Given the description of an element on the screen output the (x, y) to click on. 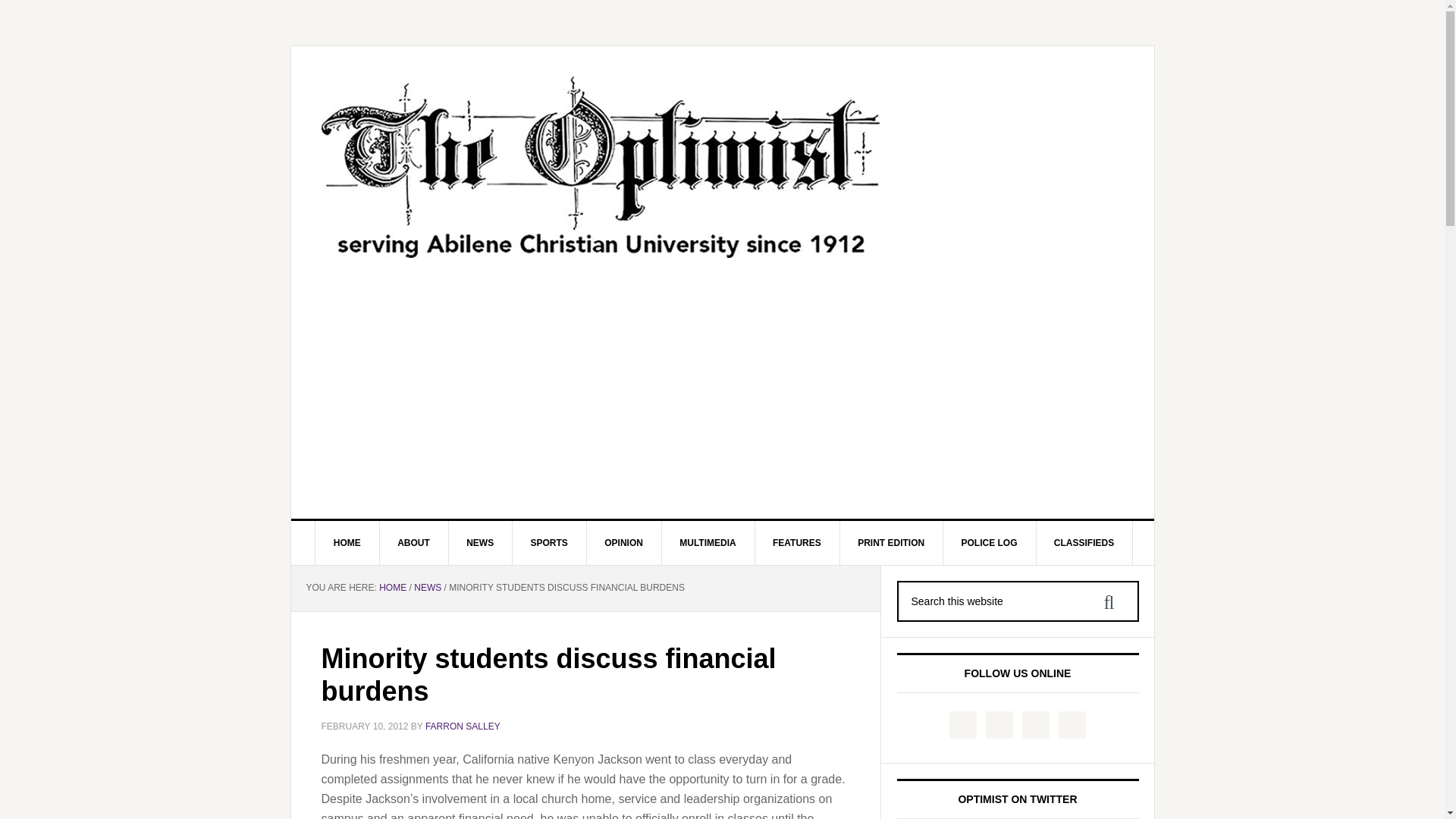
HOME (347, 542)
PRINT EDITION (891, 542)
ABOUT (413, 542)
POLICE LOG (988, 542)
CLASSIFIEDS (1083, 542)
Posts by Farron Salley (462, 726)
OPINION (624, 542)
OPTIMIST ON TWITTER (1016, 799)
NEWS (480, 542)
SPORTS (549, 542)
HOME (392, 587)
FEATURES (797, 542)
MULTIMEDIA (707, 542)
FARRON SALLEY (462, 726)
